Given the description of an element on the screen output the (x, y) to click on. 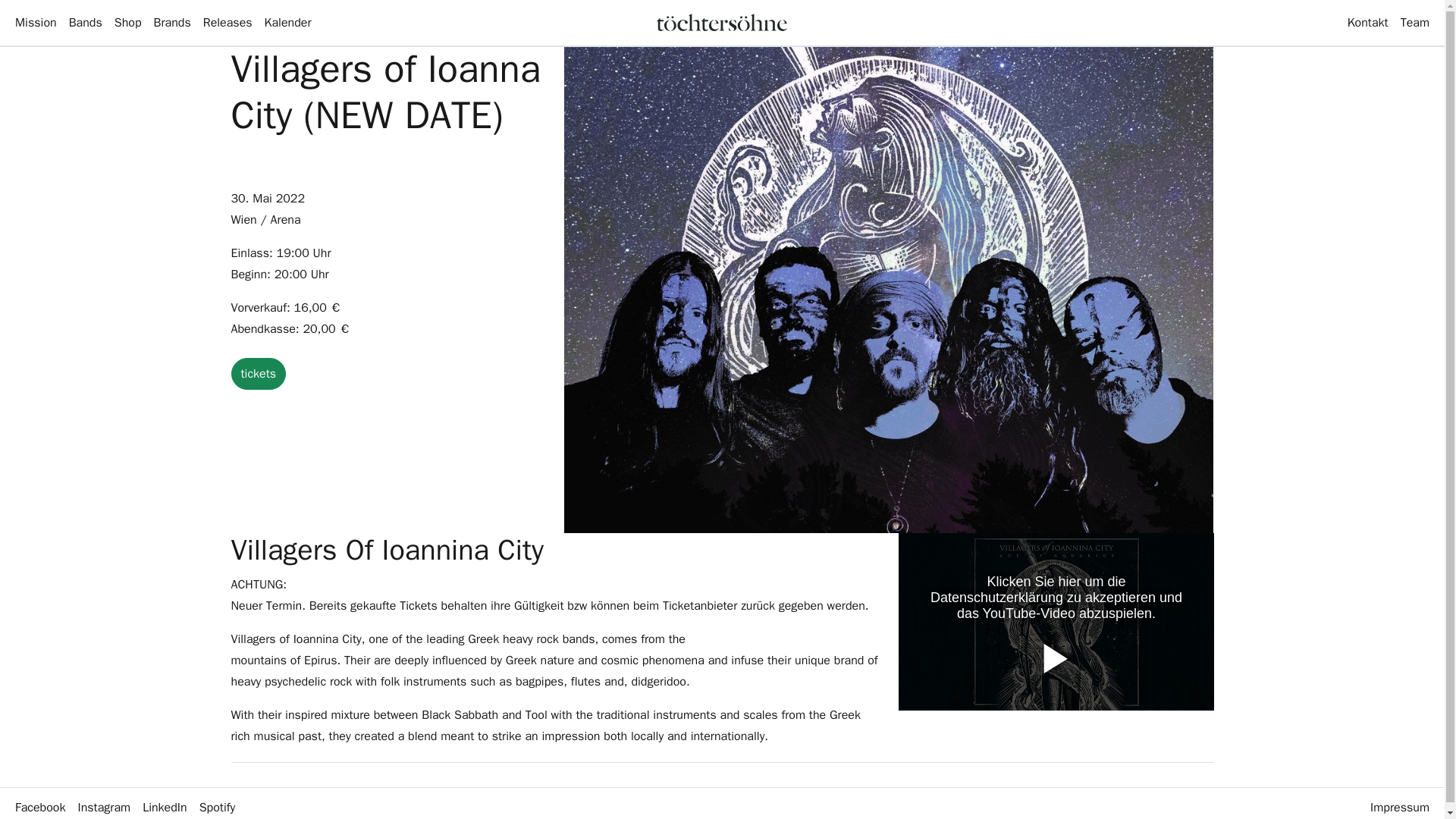
Kalender (288, 22)
Team (1414, 22)
Shop (127, 22)
YouTube Video (1055, 621)
Bands (84, 22)
Kontakt (1367, 22)
Releases (227, 22)
Mission (35, 22)
tickets (257, 373)
Brands (172, 22)
